Given the description of an element on the screen output the (x, y) to click on. 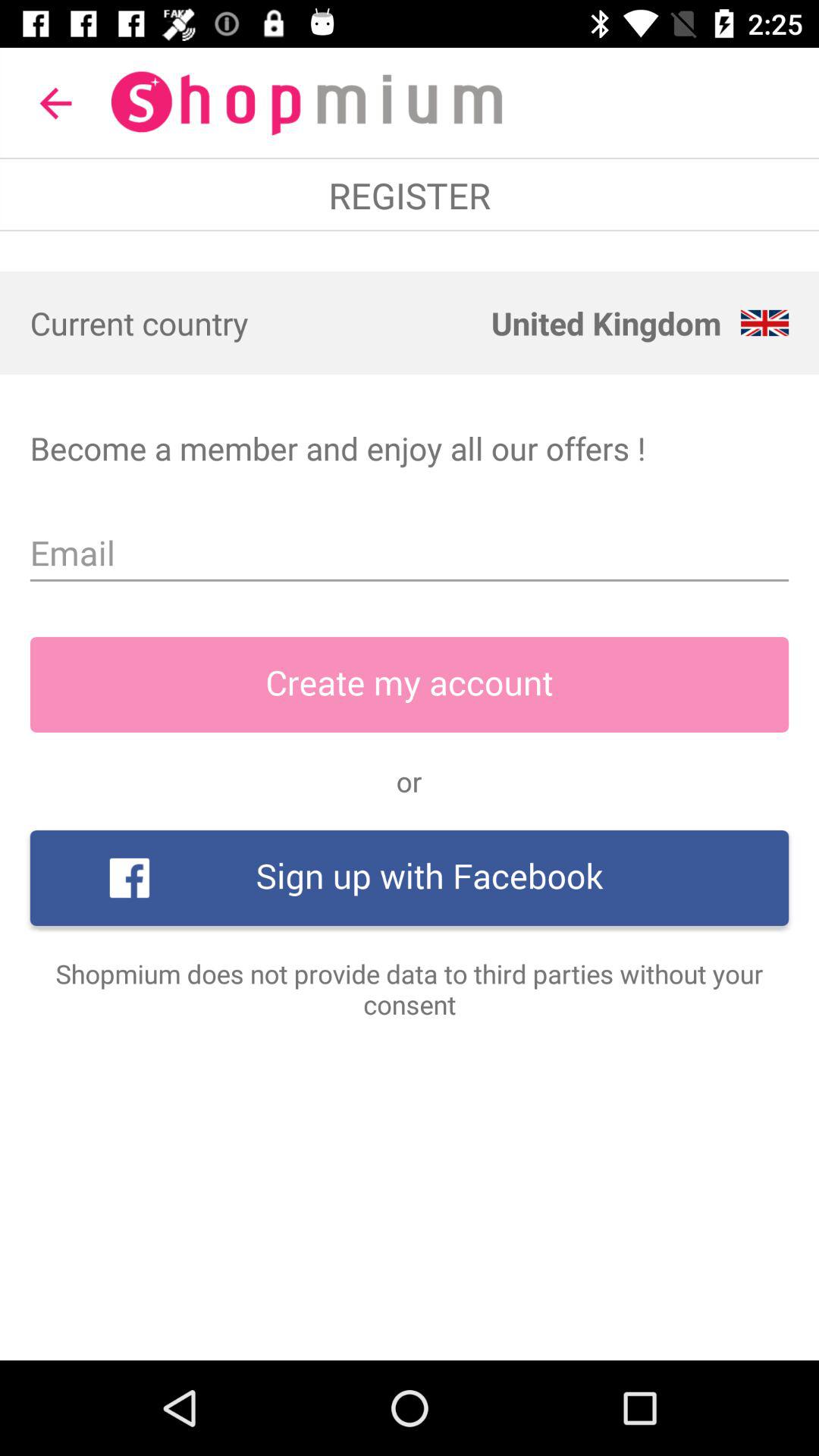
flip to sign up with icon (409, 877)
